Given the description of an element on the screen output the (x, y) to click on. 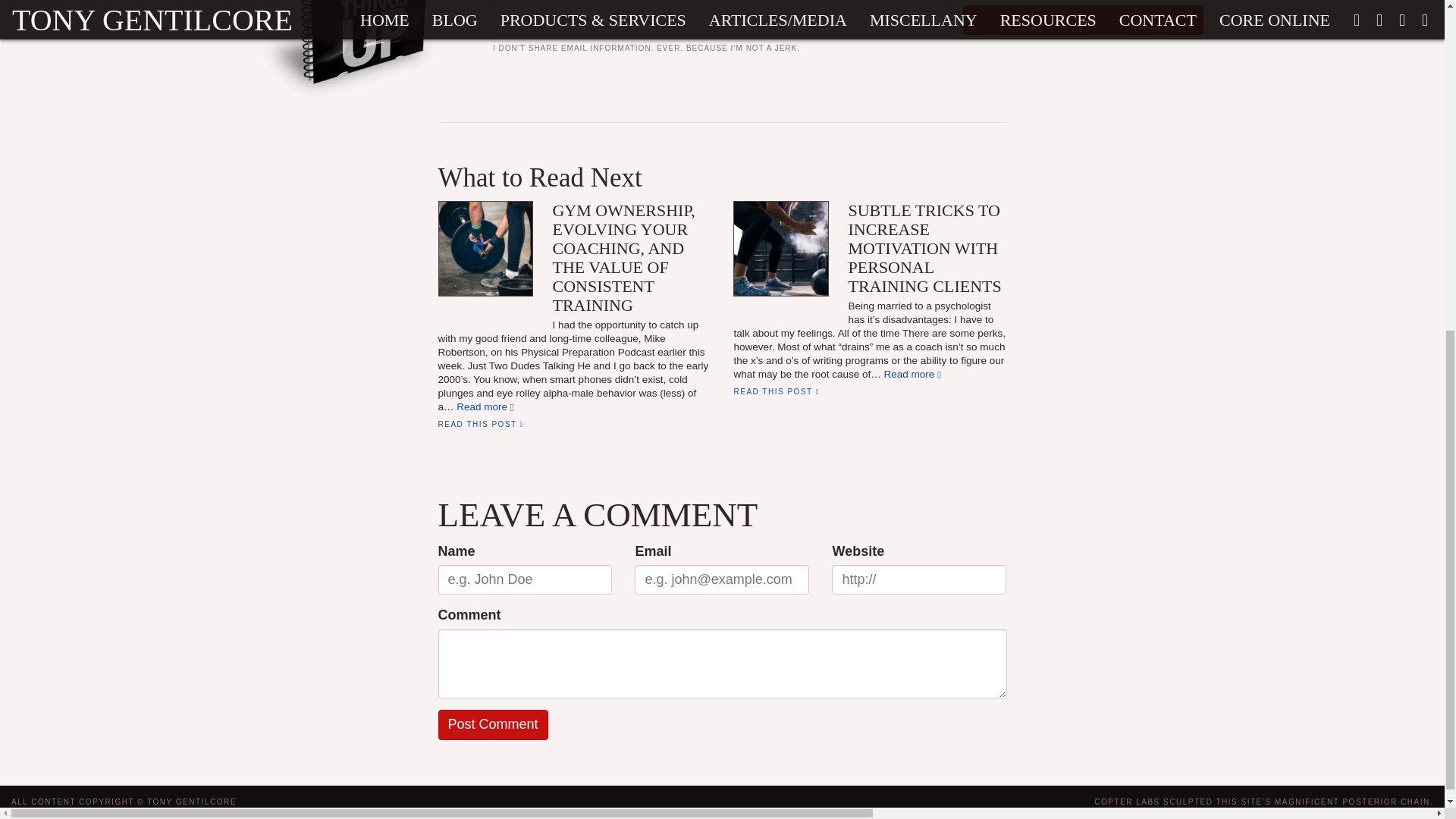
READ THIS POST (481, 424)
Read more (911, 374)
Post Comment (493, 725)
Marketing, design, and devleopment in Portland, OR (1263, 801)
TONY GENTILCORE (191, 801)
READ THIS POST (775, 391)
Join (1083, 20)
Read more (485, 406)
